Given the description of an element on the screen output the (x, y) to click on. 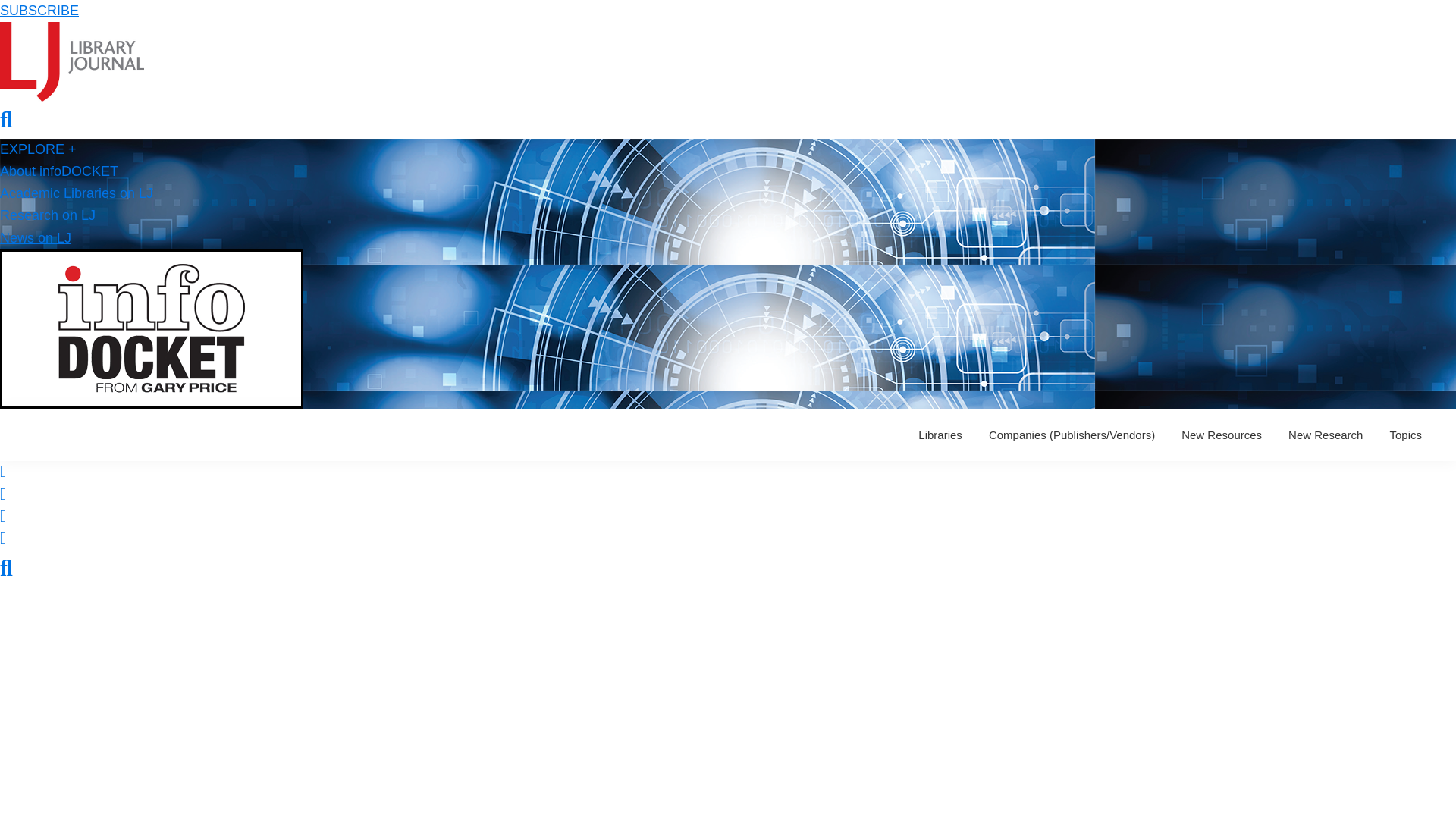
New Research (1325, 434)
SUBSCRIBE (39, 10)
Research on LJ (48, 215)
Libraries (940, 434)
News on LJ (35, 237)
About infoDOCKET (58, 171)
Academic Libraries on LJ (76, 192)
New Resources (1221, 434)
